Given the description of an element on the screen output the (x, y) to click on. 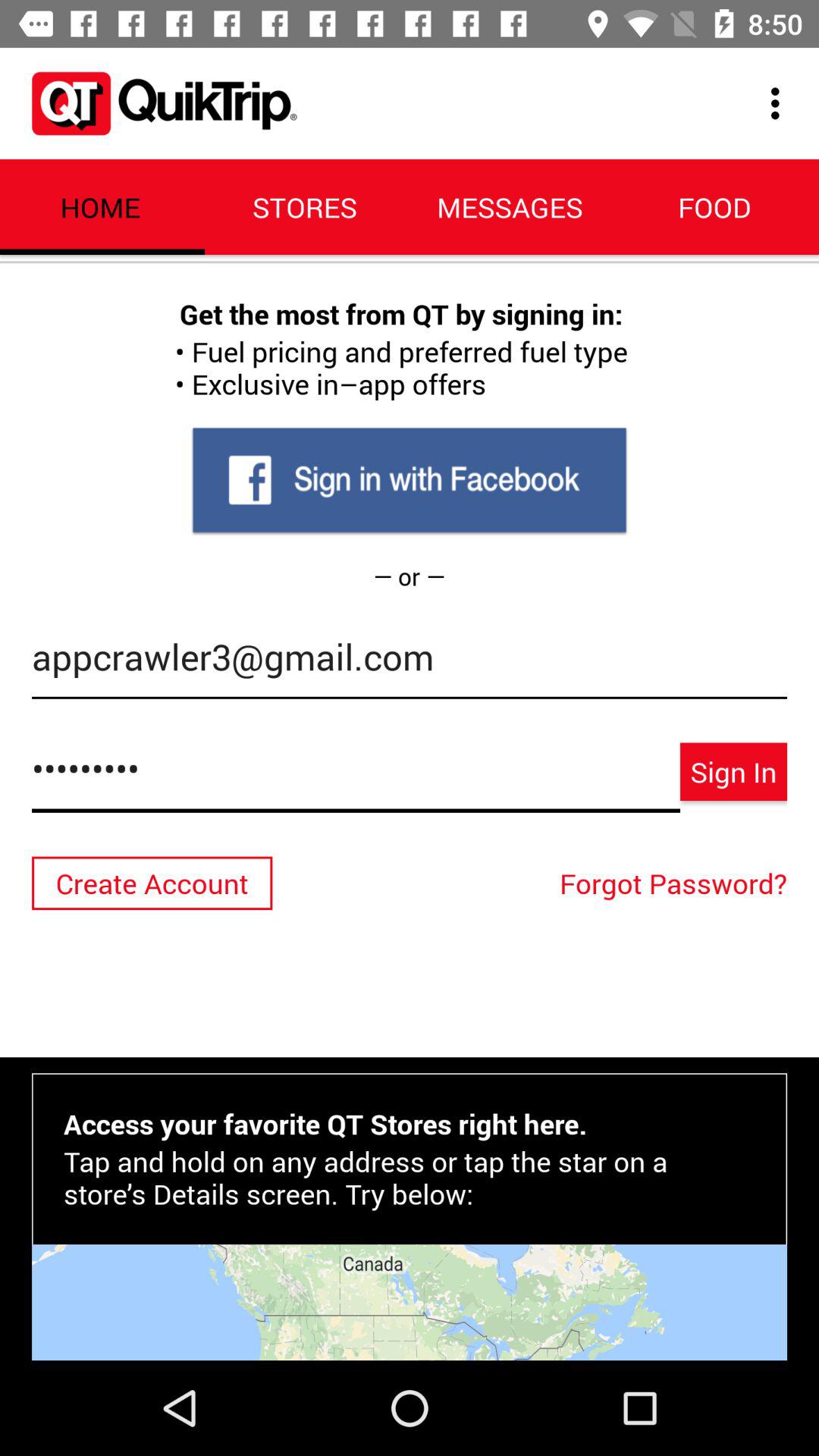
open the create account icon (151, 883)
